Given the description of an element on the screen output the (x, y) to click on. 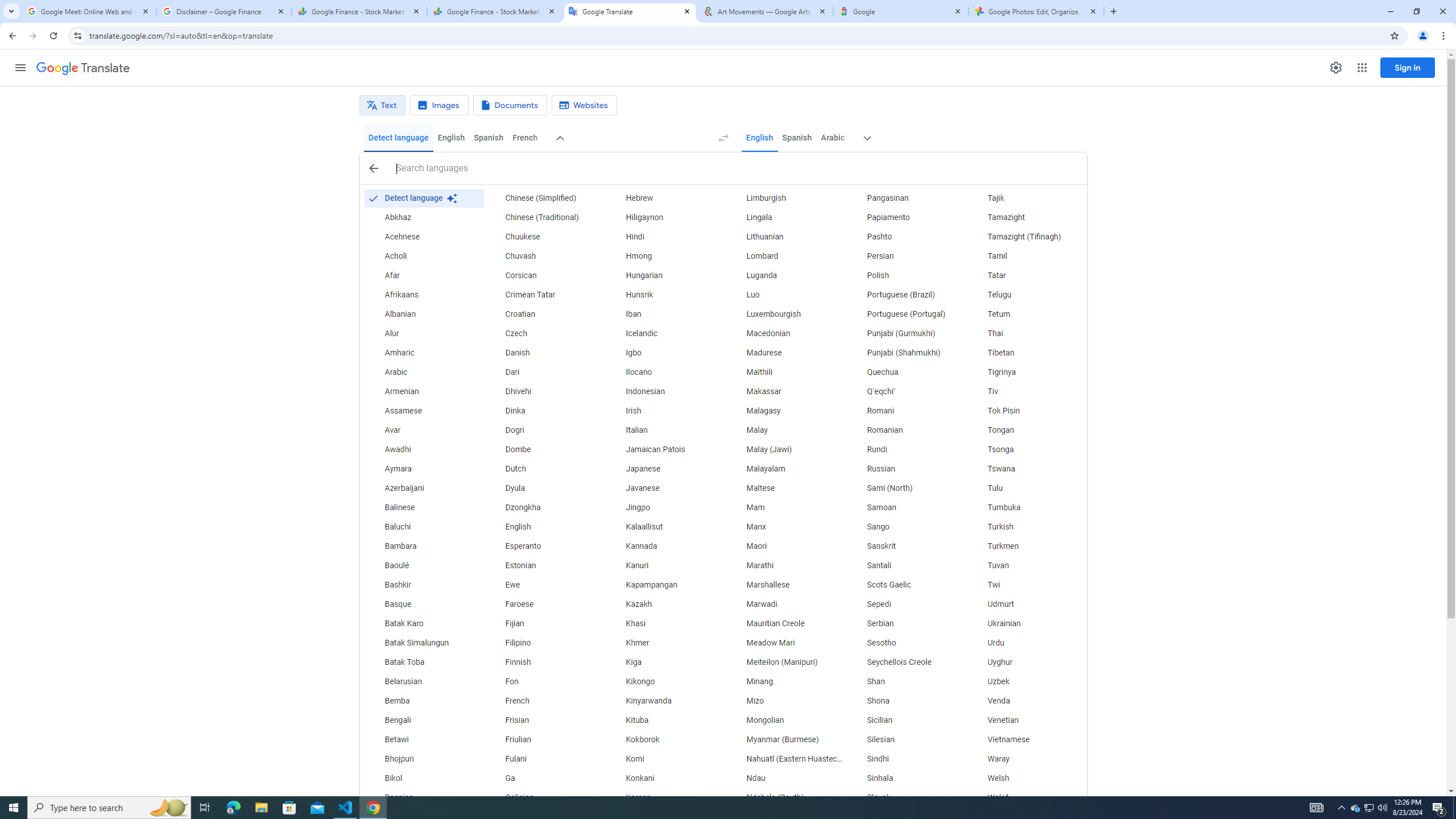
Telugu (1026, 294)
Makassar (785, 391)
Javanese (665, 488)
Azerbaijani (423, 488)
Igbo (665, 352)
Tswana (1026, 469)
Romani (905, 411)
Nahuatl (Eastern Huasteca) (785, 759)
Rundi (905, 449)
Tatar (1026, 275)
Macedonian (785, 334)
